Given the description of an element on the screen output the (x, y) to click on. 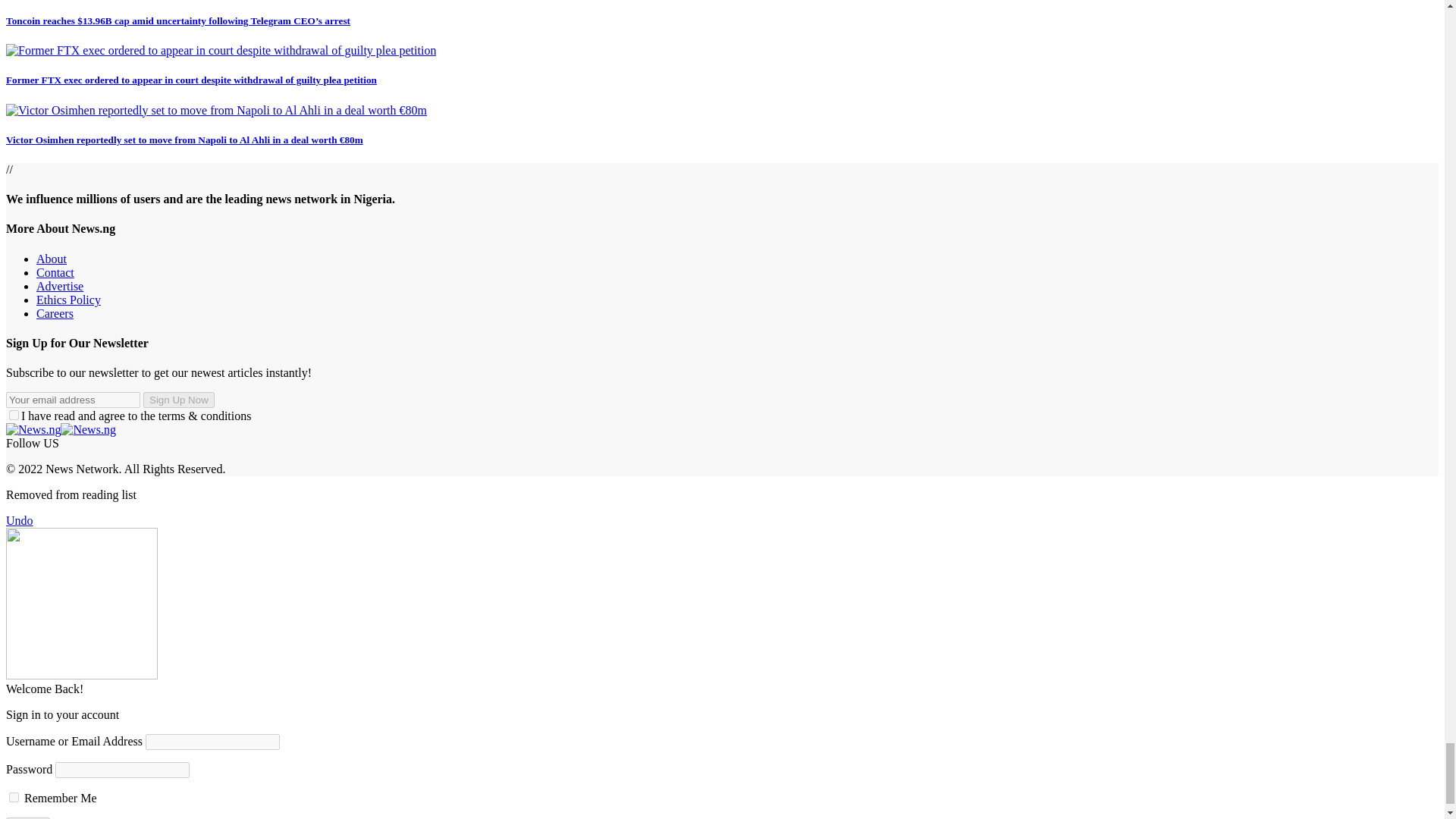
forever (13, 797)
Sign In (27, 818)
1 (13, 415)
Sign Up Now (178, 399)
News.ng (60, 429)
